Given the description of an element on the screen output the (x, y) to click on. 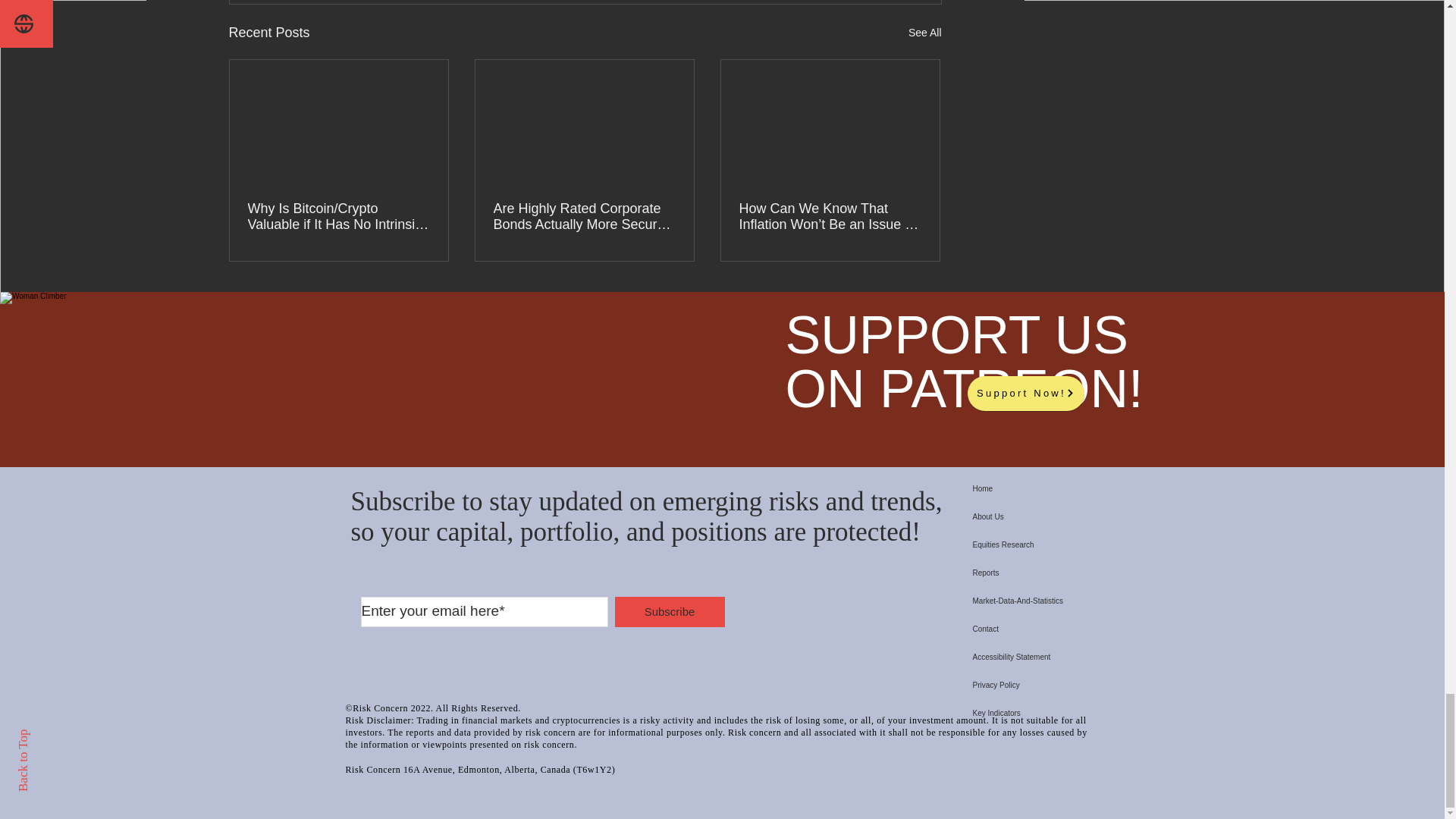
Key Indicators (1083, 713)
Subscribe (668, 612)
Contact (1083, 628)
Market-Data-And-Statistics (1083, 601)
Accessibility Statement (1083, 656)
About Us (1083, 516)
Equities Research (1083, 544)
See All (925, 33)
Reports (1083, 572)
Privacy Policy (1083, 684)
Home (1083, 488)
Support Now! (1026, 393)
